Given the description of an element on the screen output the (x, y) to click on. 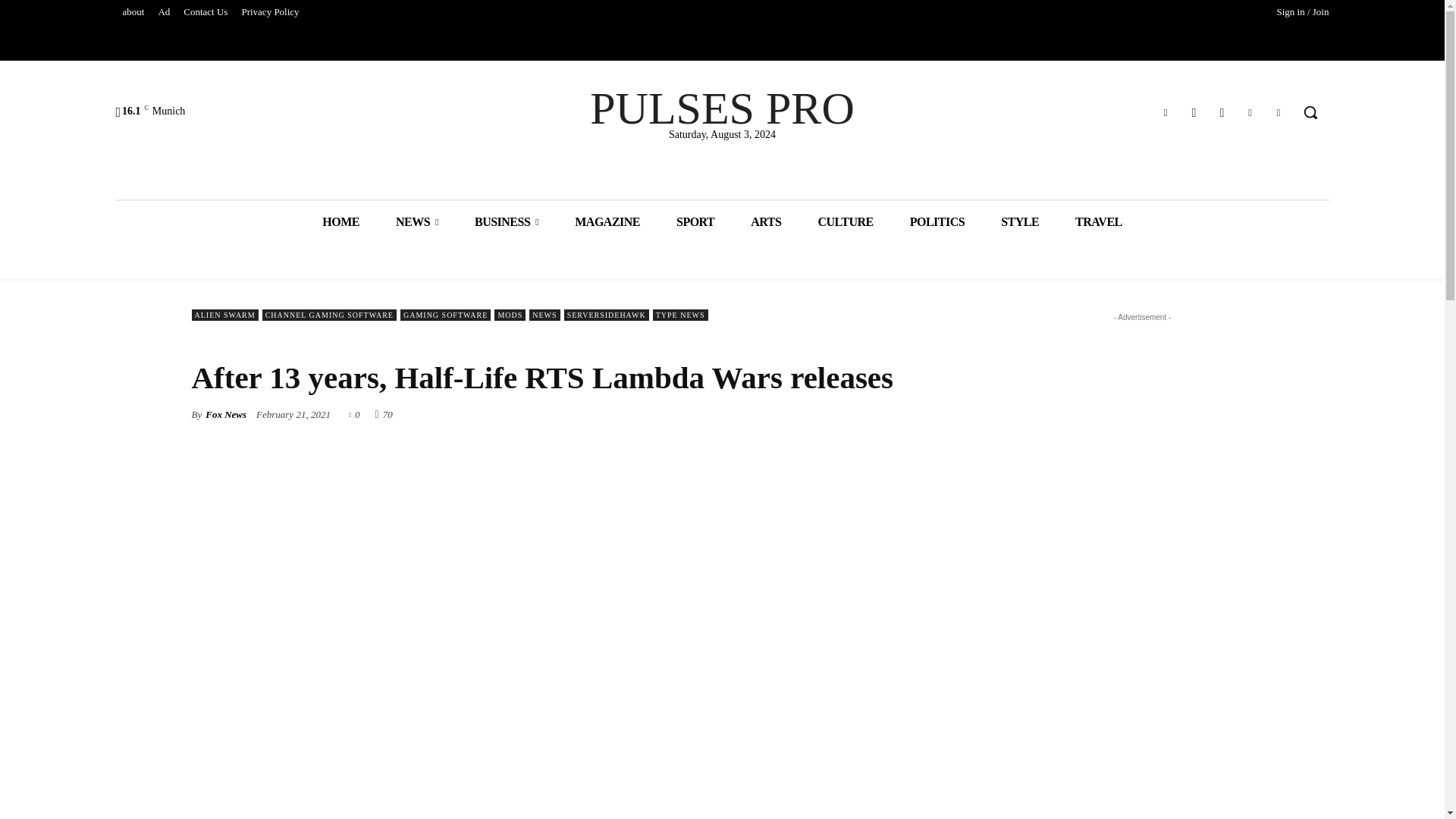
Pinterest (1250, 112)
Privacy Policy (269, 12)
Instagram (1221, 112)
PULSES PRO (722, 108)
about (133, 12)
HOME (340, 221)
Blogger (1166, 112)
Facebook (1193, 112)
NEWS (417, 221)
Contact Us (205, 12)
